Given the description of an element on the screen output the (x, y) to click on. 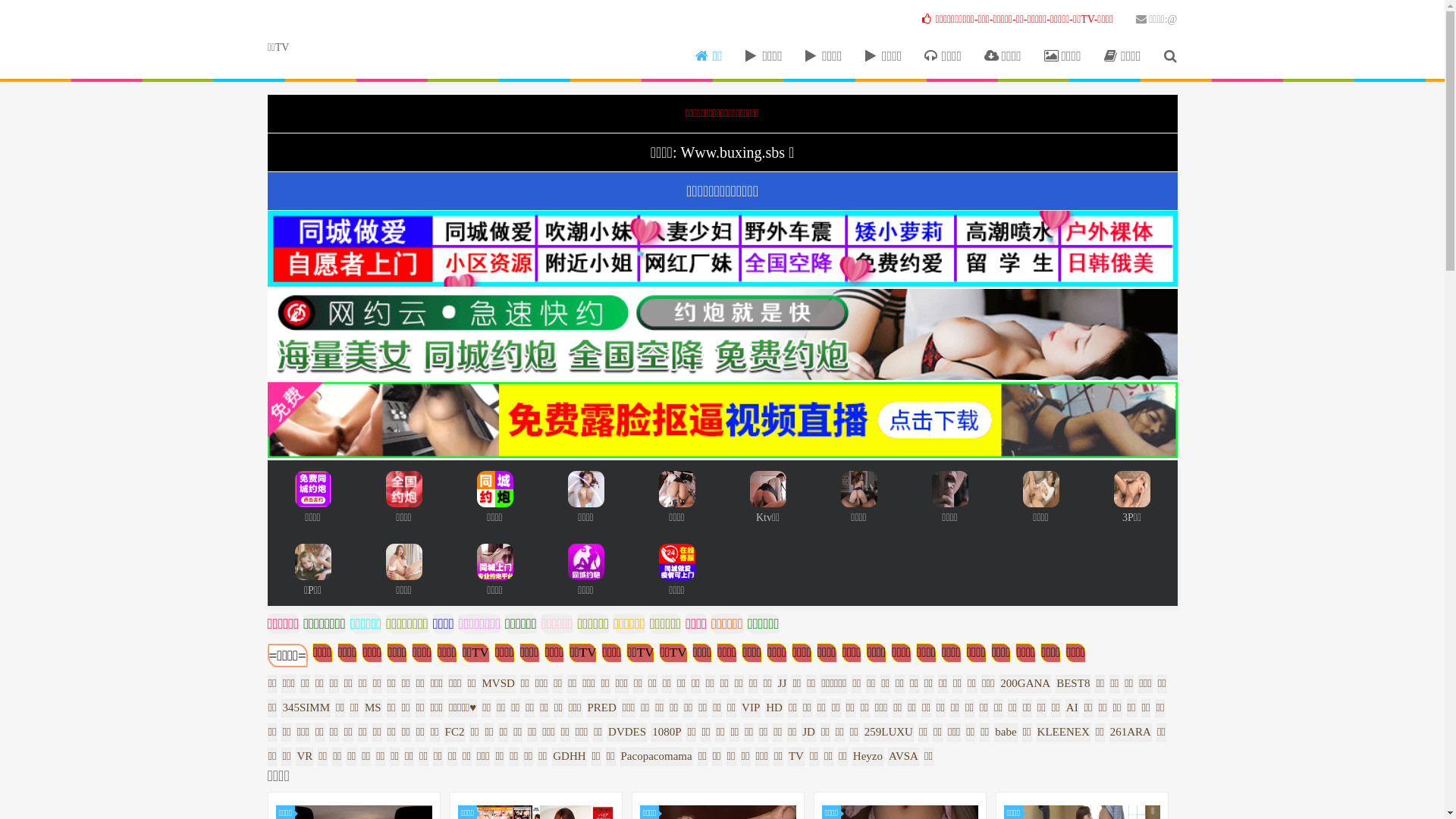
PRED Element type: text (603, 705)
babe Element type: text (1007, 730)
Pacopacomama Element type: text (658, 754)
200GANA Element type: text (1027, 681)
1080P Element type: text (668, 730)
TV Element type: text (798, 754)
KLEENEX Element type: text (1065, 730)
259LUXU Element type: text (890, 730)
MS Element type: text (375, 705)
AI Element type: text (1074, 705)
JJ Element type: text (784, 681)
BEST8 Element type: text (1075, 681)
AVSA Element type: text (905, 754)
GDHH Element type: text (571, 754)
261ARA Element type: text (1132, 730)
HD Element type: text (776, 705)
Heyzo Element type: text (870, 754)
345SIMM Element type: text (308, 705)
DVDES Element type: text (629, 730)
VR Element type: text (306, 754)
JD Element type: text (810, 730)
VIP Element type: text (752, 705)
MVSD Element type: text (499, 681)
FC2 Element type: text (457, 730)
